Given the description of an element on the screen output the (x, y) to click on. 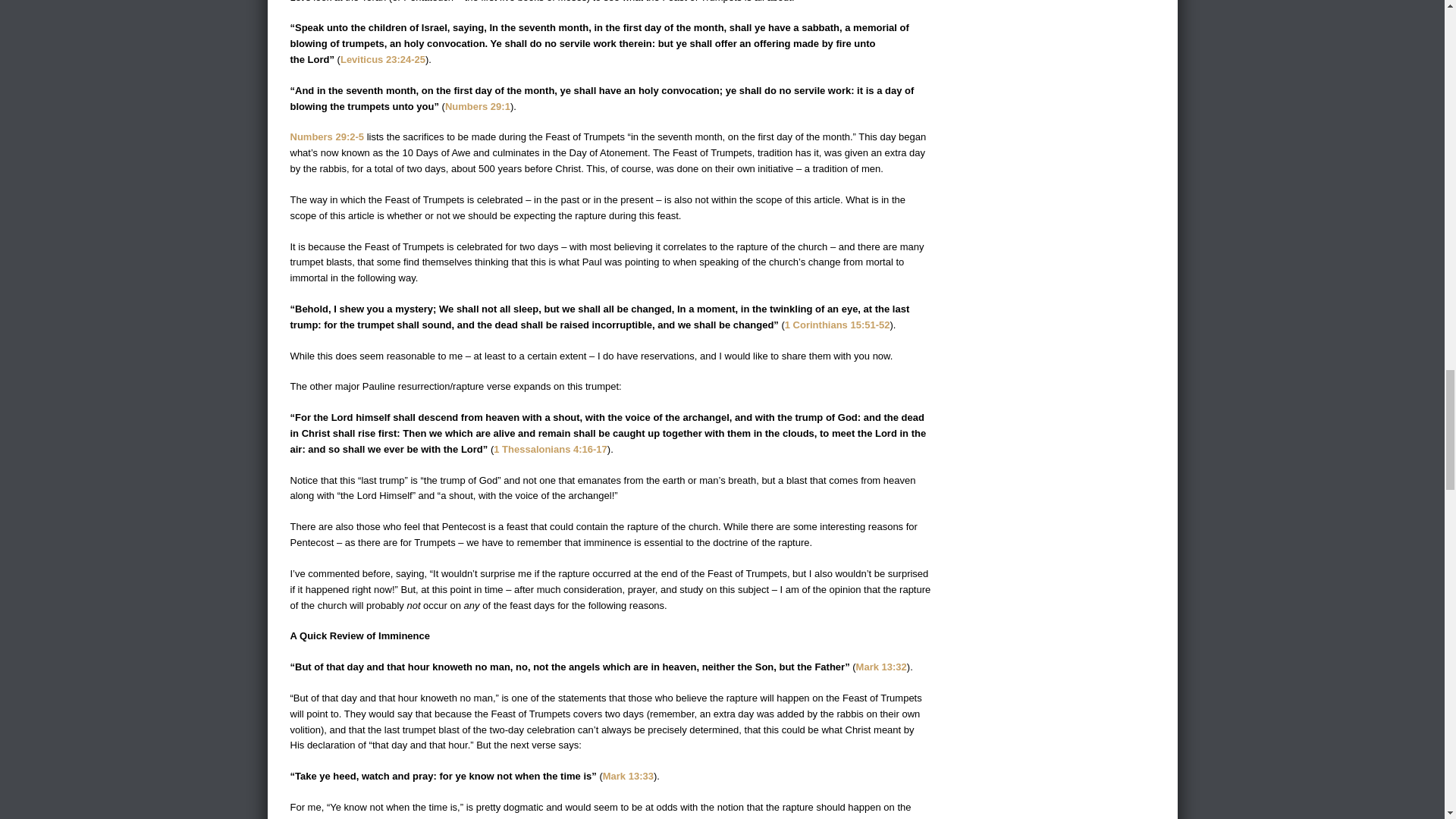
Leviticus 23:24-25 (382, 59)
Numbers 29:1 (478, 106)
Numbers 29:2-5 (326, 136)
